Given the description of an element on the screen output the (x, y) to click on. 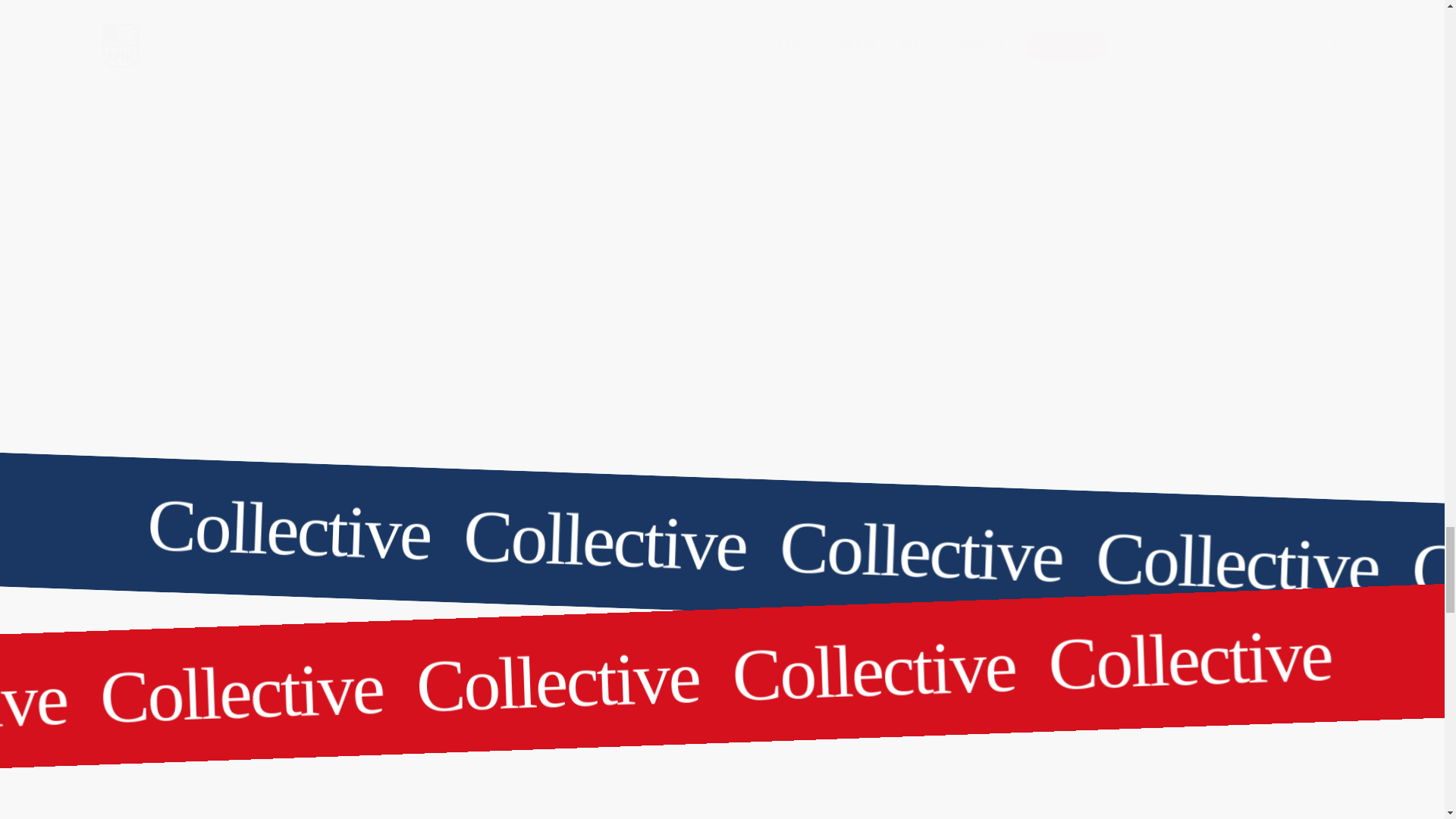
Collective (717, 648)
Collective (717, 517)
Collective (671, 670)
Collective (98, 692)
Collective (717, 517)
Collective (1302, 648)
Collective (141, 517)
